Given the description of an element on the screen output the (x, y) to click on. 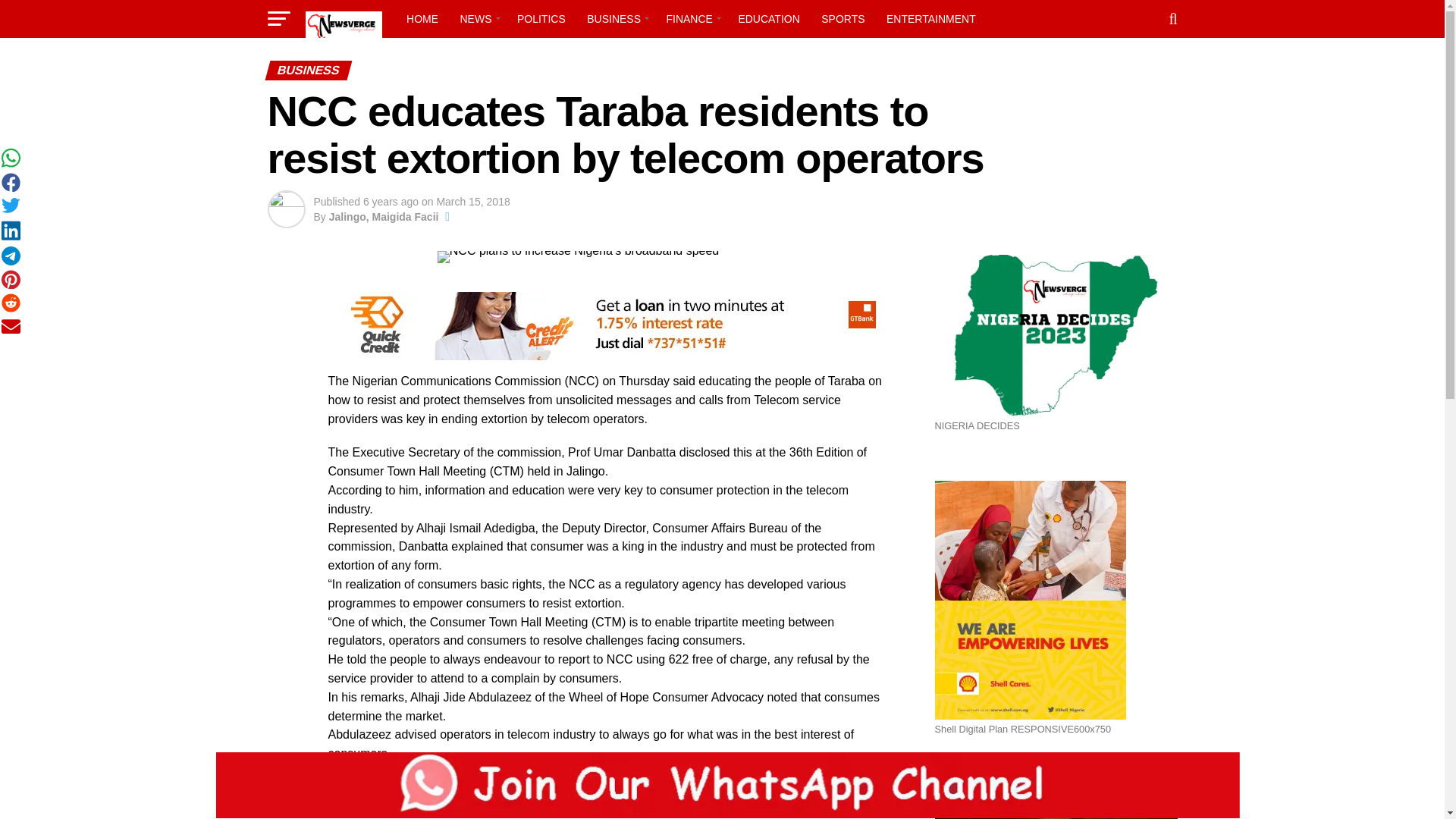
ENTERTAINMENT (931, 18)
Davido Net Worth (1055, 796)
FINANCE (690, 18)
Davido Net Worth (1055, 812)
BUSINESS (615, 18)
SPORTS (842, 18)
POLITICS (541, 18)
NEWS (476, 18)
